Given the description of an element on the screen output the (x, y) to click on. 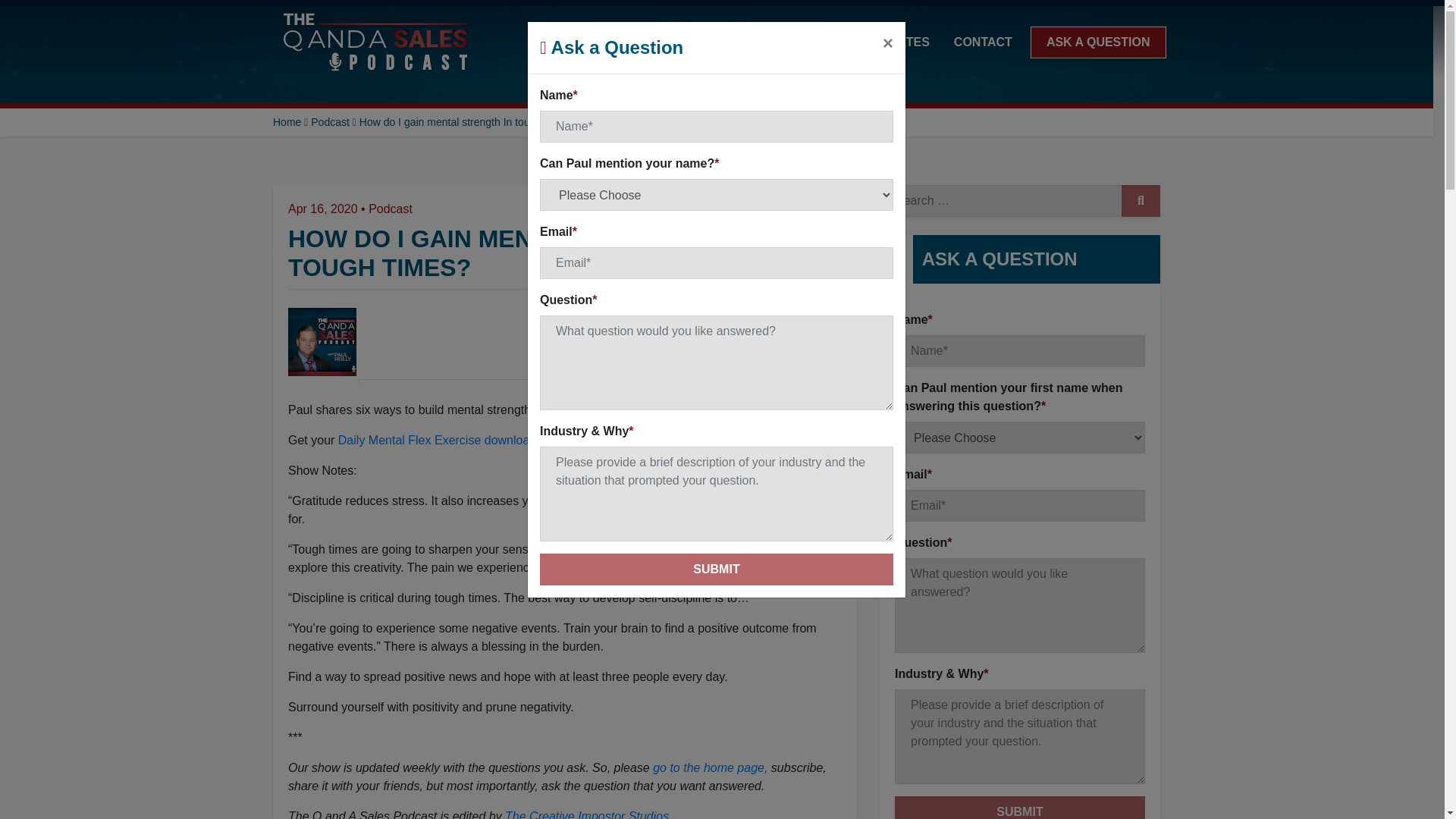
Home (287, 121)
Paul's Keynotes (873, 41)
Downloads (751, 41)
Submit (716, 569)
Contact (983, 41)
ASK A QUESTION (1098, 41)
DOWNLOADS (751, 41)
Q and A Sales Podcast (376, 42)
go to the home page, (709, 767)
Submit (716, 569)
The Creative Impostor Studios. (588, 814)
PODCASTS (652, 41)
SUBMIT (1140, 201)
Submit (1019, 807)
ABOUT (573, 41)
